Given the description of an element on the screen output the (x, y) to click on. 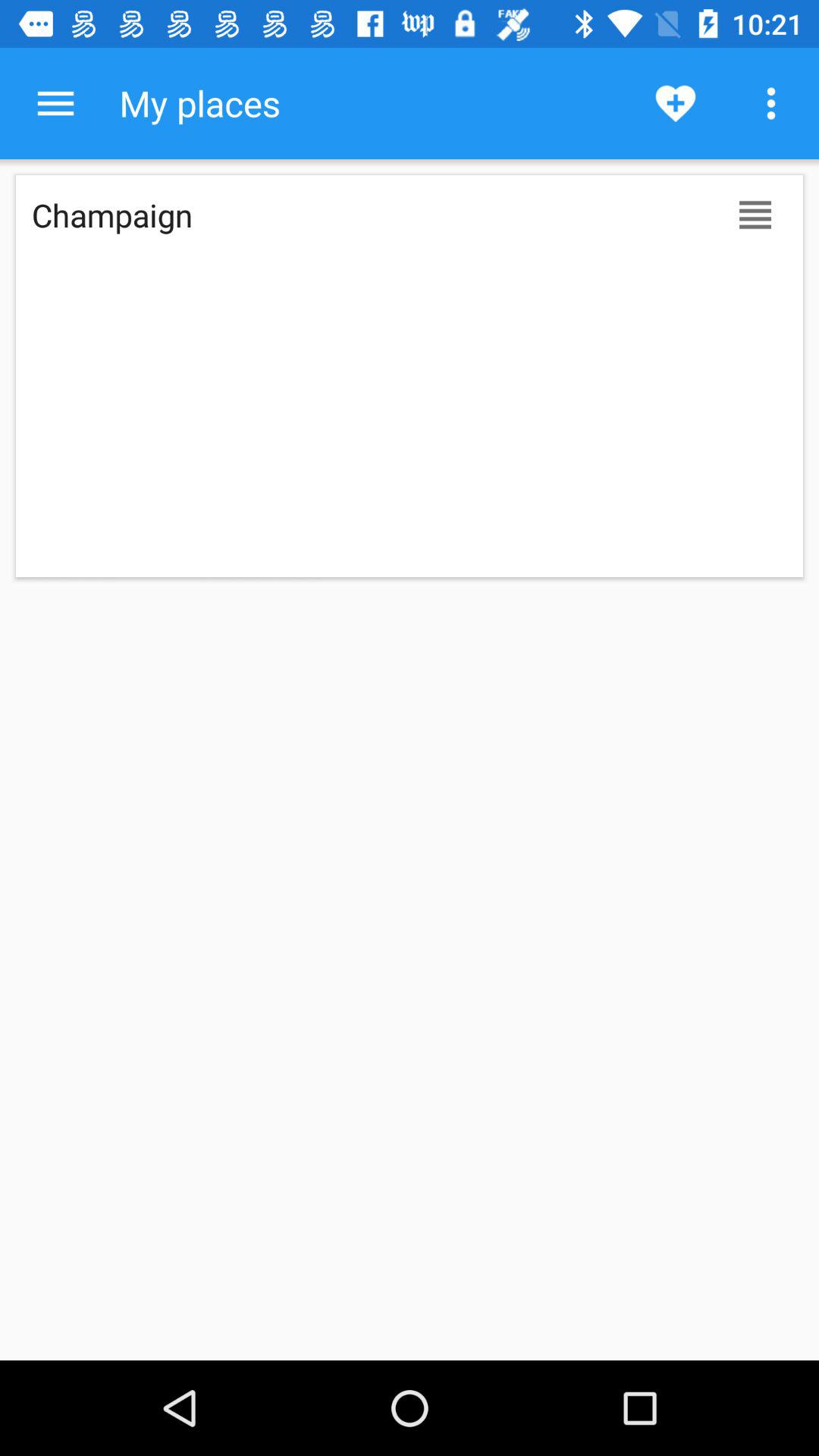
help section (55, 103)
